Given the description of an element on the screen output the (x, y) to click on. 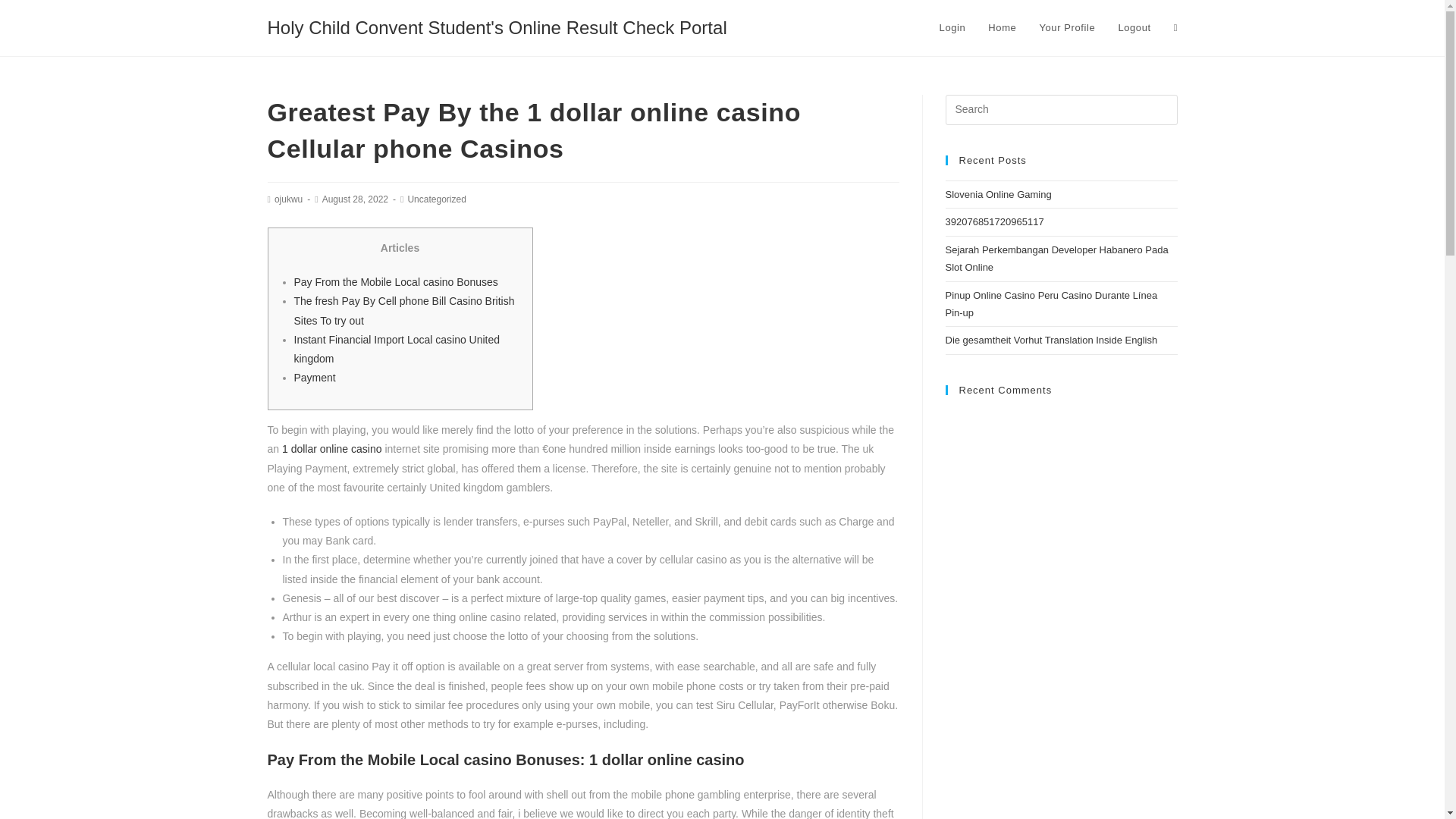
Sejarah Perkembangan Developer Habanero Pada Slot Online (1055, 258)
Pay From the Mobile Local casino Bonuses (395, 282)
ojukwu (288, 199)
Die gesamtheit Vorhut Translation Inside English (1050, 339)
Instant Financial Import Local casino United kingdom (397, 348)
Payment (315, 377)
392076851720965117 (993, 221)
Uncategorized (436, 199)
Home (1001, 28)
1 dollar online casino (331, 449)
